Given the description of an element on the screen output the (x, y) to click on. 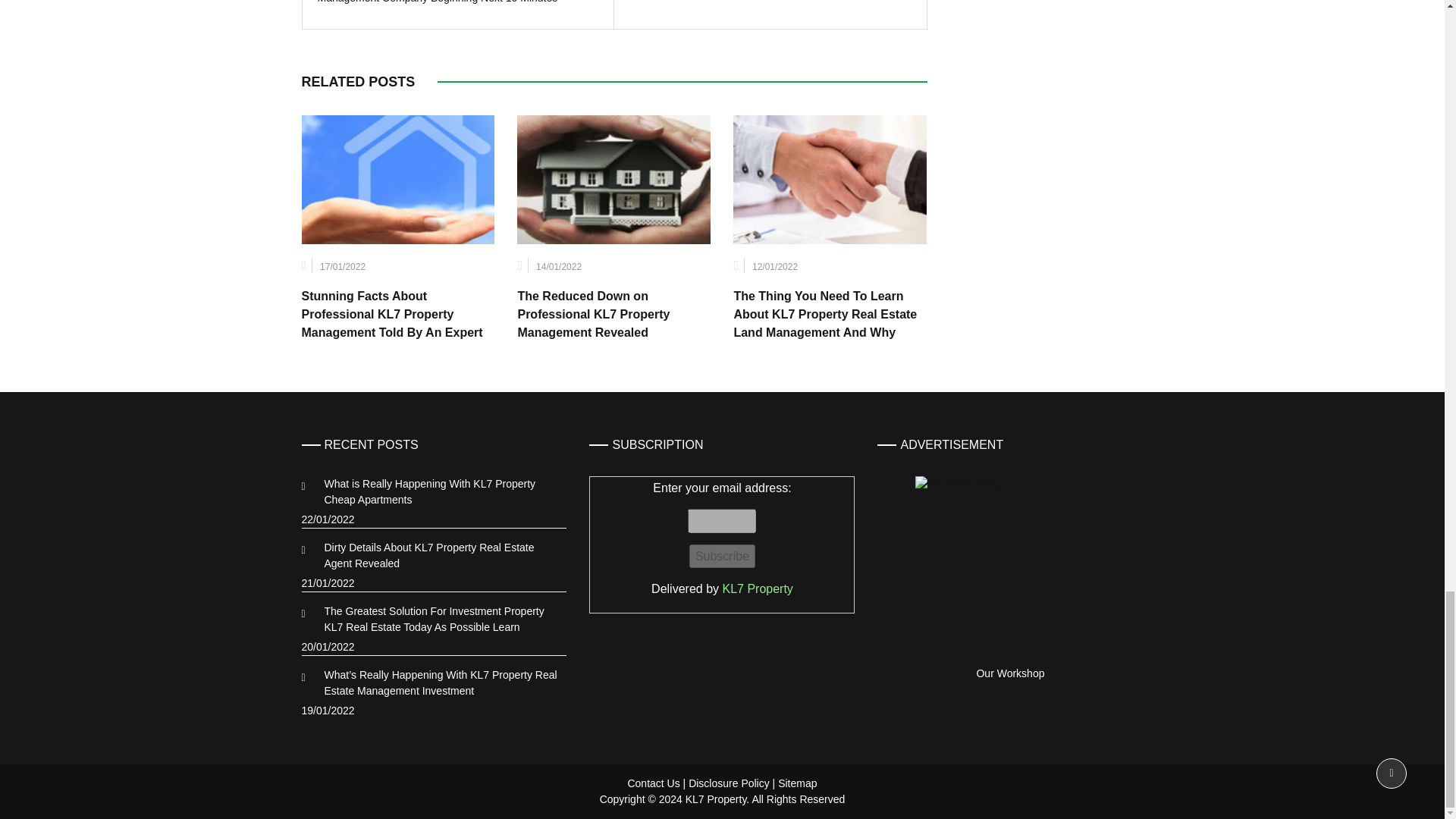
Subscribe (721, 556)
Top Web Design (1010, 570)
